Given the description of an element on the screen output the (x, y) to click on. 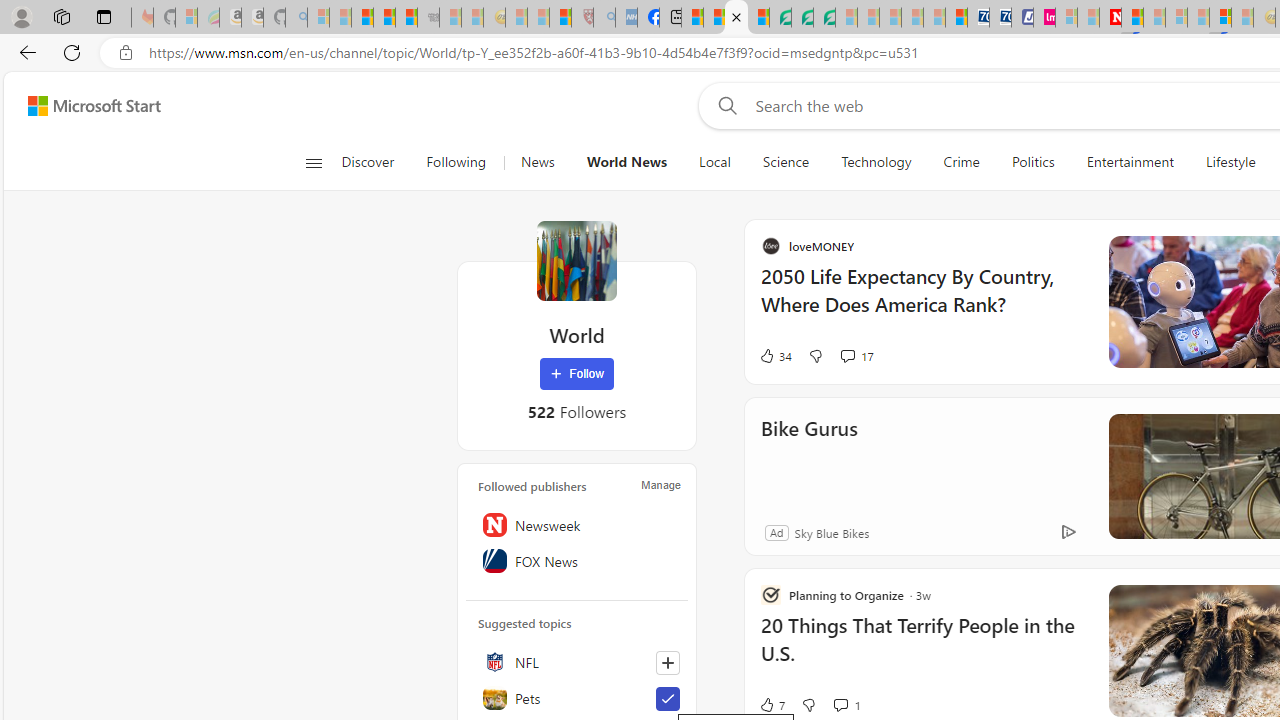
2050 Life Expectancy By Country, Where Does America Rank? (1115, 300)
Newsweek (577, 525)
LendingTree - Compare Lenders (780, 17)
New Report Confirms 2023 Was Record Hot | Watch (406, 17)
